Given the description of an element on the screen output the (x, y) to click on. 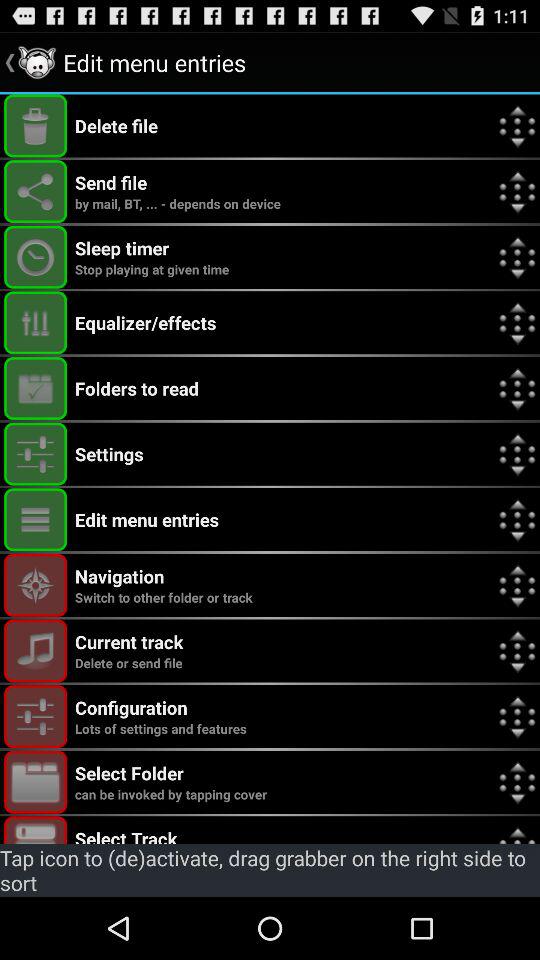
equalizer/effects button (35, 322)
